Given the description of an element on the screen output the (x, y) to click on. 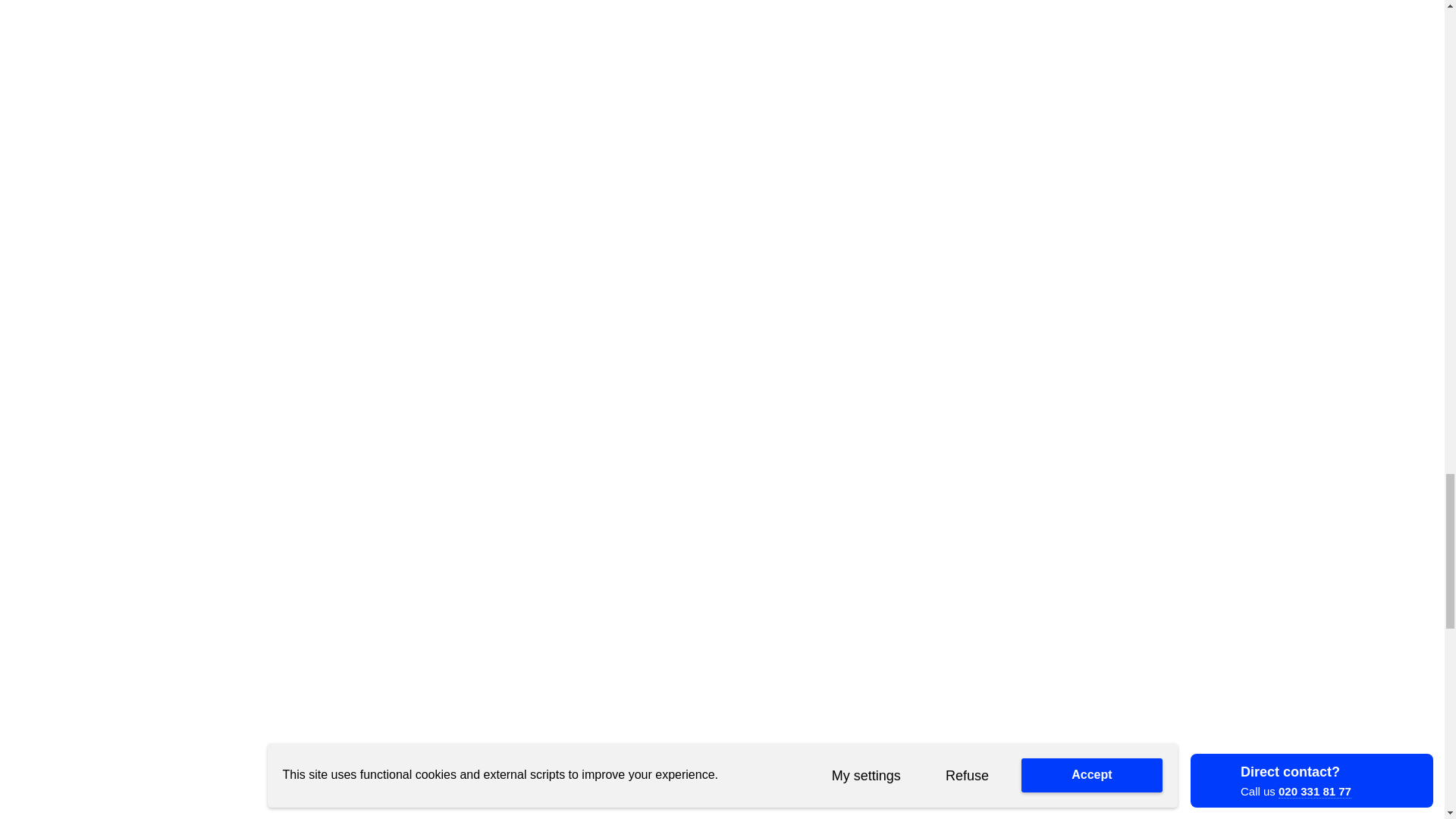
Bericht verzenden (537, 725)
